Given the description of an element on the screen output the (x, y) to click on. 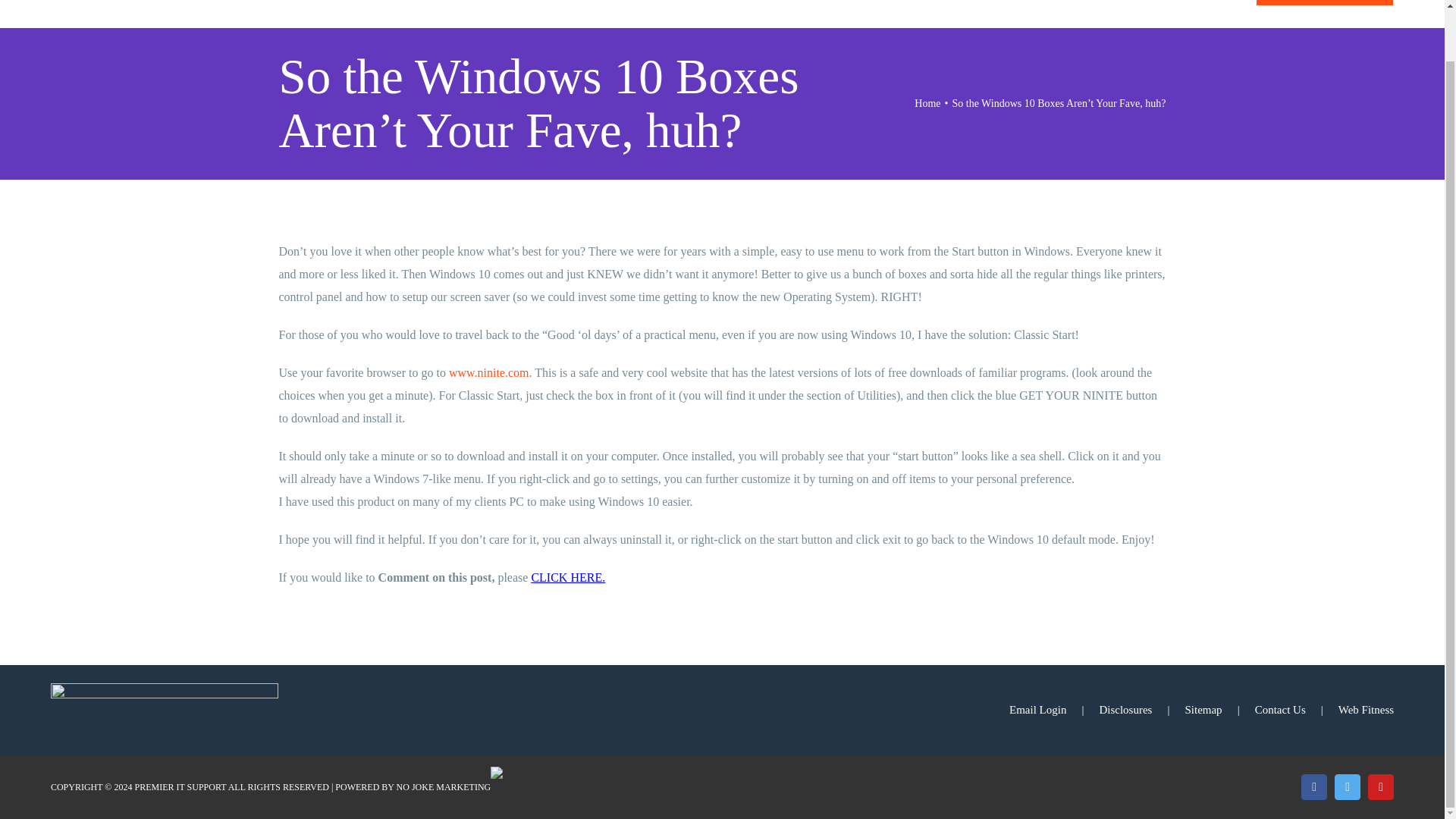
CLICK HERE. (568, 576)
Home (702, 10)
POWERED BY NO JOKE MARKETING (412, 787)
Disclosures (1142, 709)
www.ninite.com (488, 372)
Facebook (1313, 786)
YouTube (1380, 786)
Toggle Sliding Bar (1411, 10)
Insight (1025, 10)
Sitemap (1219, 709)
Contact Us (1296, 709)
Twitter (1347, 786)
Twitter (1347, 786)
About Us (770, 10)
Support Services (875, 10)
